Given the description of an element on the screen output the (x, y) to click on. 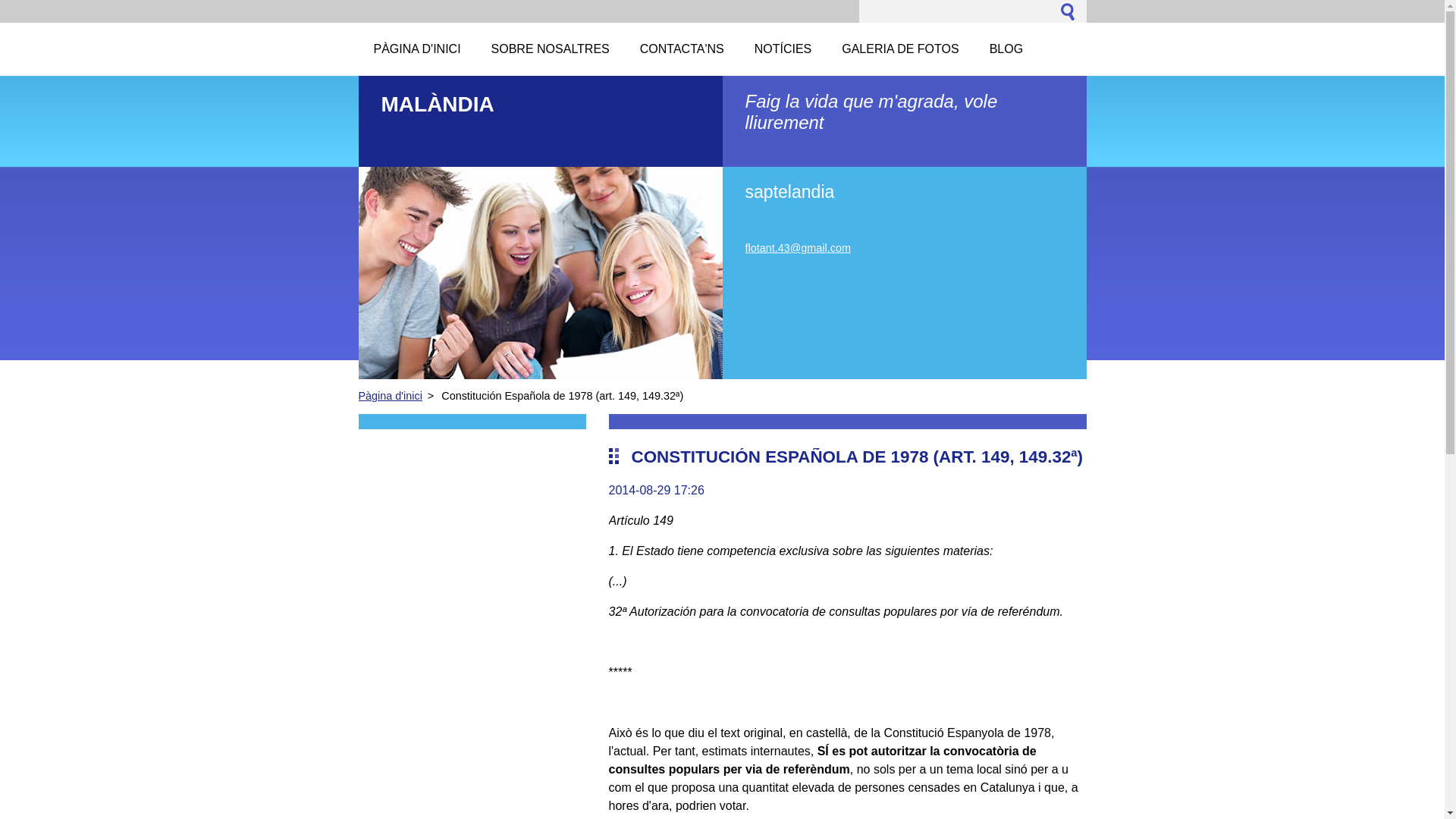
BLOG Element type: text (1006, 48)
flotant.43@gmail.com Element type: text (797, 247)
GALERIA DE FOTOS Element type: text (899, 48)
CONTACTA'NS Element type: text (681, 48)
SOBRE NOSALTRES Element type: text (550, 48)
